Given the description of an element on the screen output the (x, y) to click on. 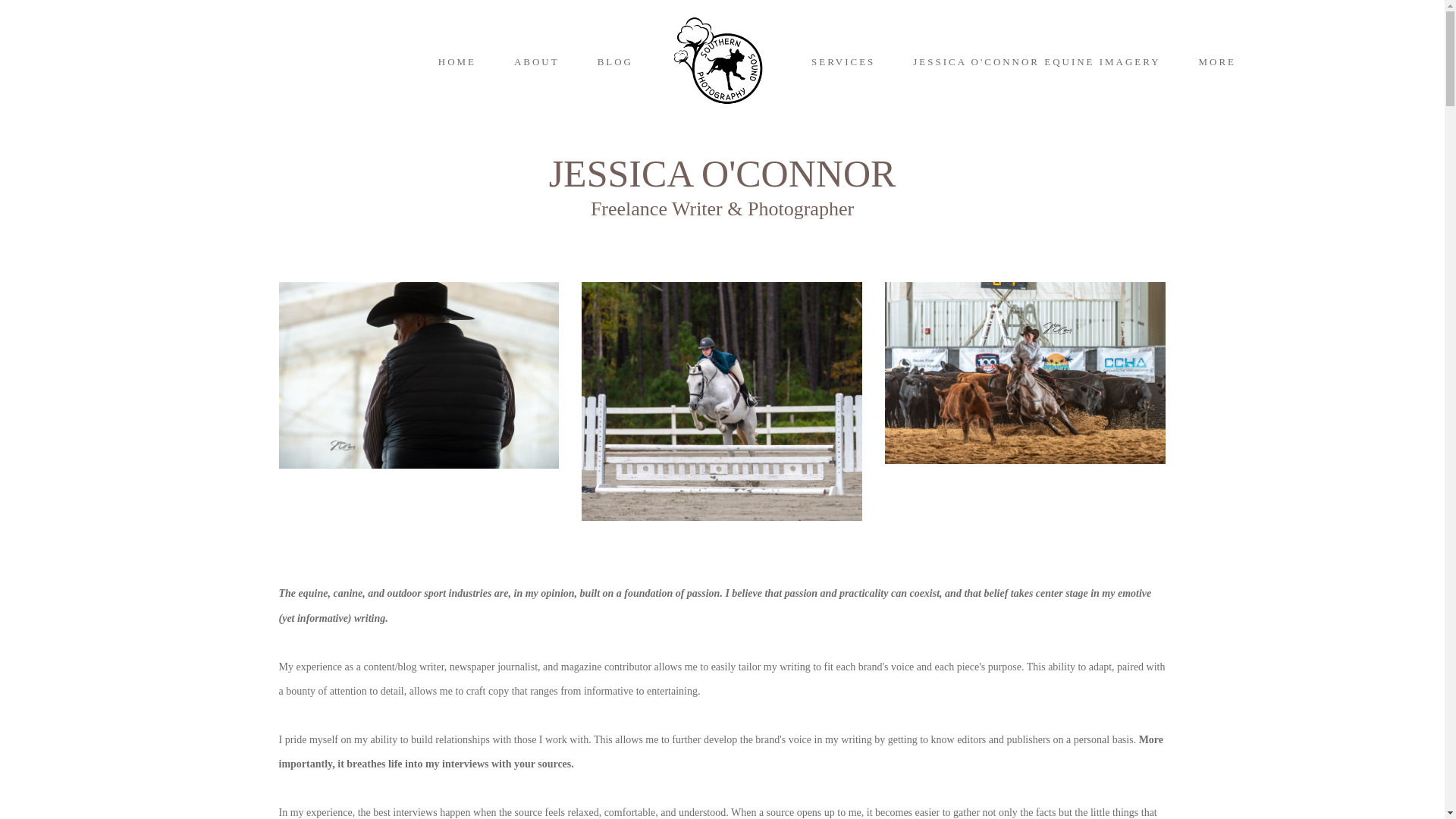
HOME (457, 61)
BLOG (615, 61)
JESSICA O'CONNOR EQUINE IMAGERY (1036, 61)
ABOUT (536, 61)
SERVICES (842, 61)
MORE (1222, 61)
